Given the description of an element on the screen output the (x, y) to click on. 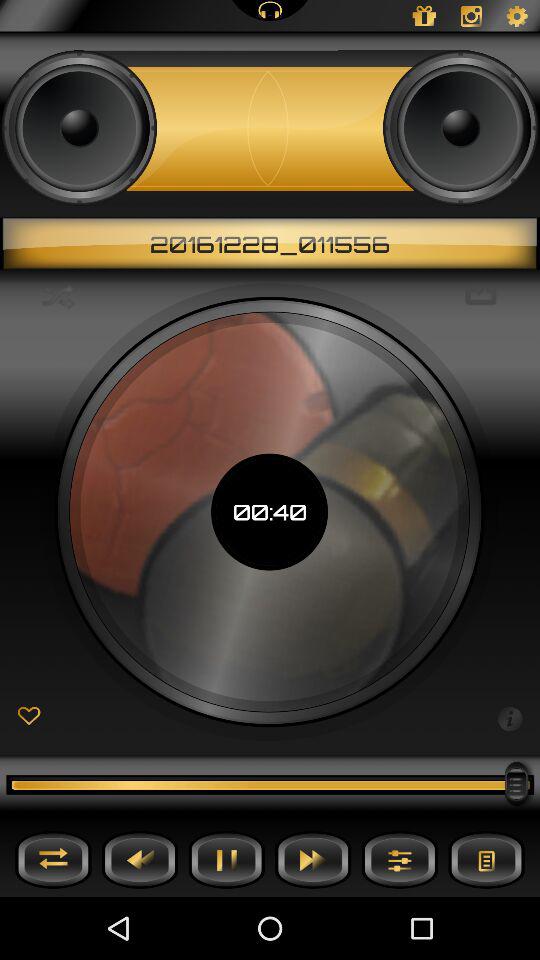
toggle information button (509, 717)
